Given the description of an element on the screen output the (x, y) to click on. 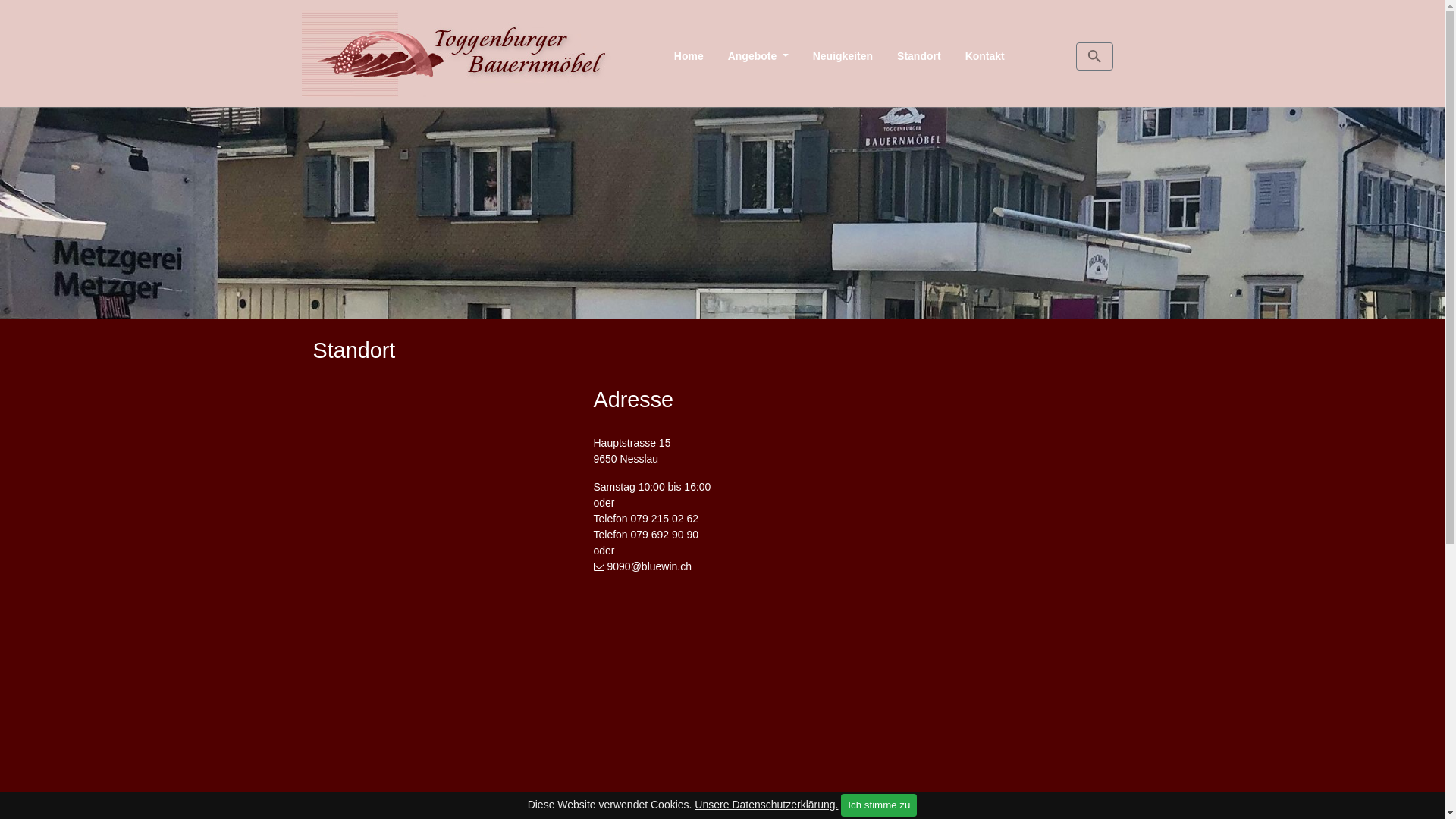
Home Element type: text (688, 56)
Angebote Element type: text (757, 56)
9090@bluewin.ch Element type: text (642, 566)
Neuigkeiten Element type: text (842, 56)
Ich stimme zu Element type: text (878, 804)
Standort Element type: text (918, 56)
Kontakt Element type: text (984, 56)
